Given the description of an element on the screen output the (x, y) to click on. 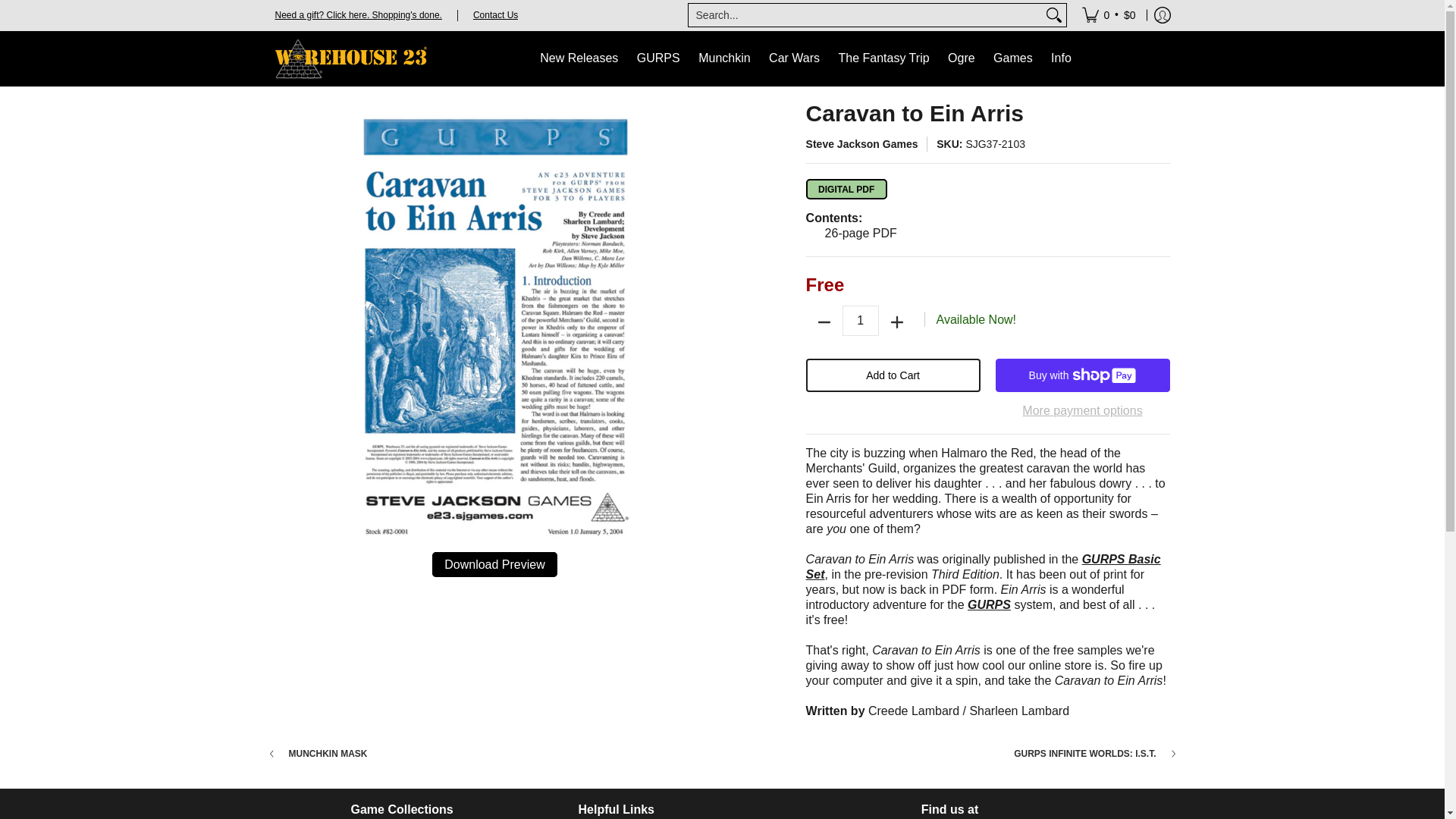
New Releases (579, 58)
Warehouse 23 (350, 58)
Games (1013, 58)
GURPS (657, 58)
Munchkin (723, 58)
Cart (1108, 15)
The Fantasy Trip (884, 58)
Munchkin (723, 58)
Log in (1161, 15)
GURPS (657, 58)
Contact Us (495, 14)
1 (861, 320)
Car Wars (794, 58)
Need a gift? Click here. Shopping's done. (358, 14)
Warehouse 23 Gift Certificate (358, 14)
